Given the description of an element on the screen output the (x, y) to click on. 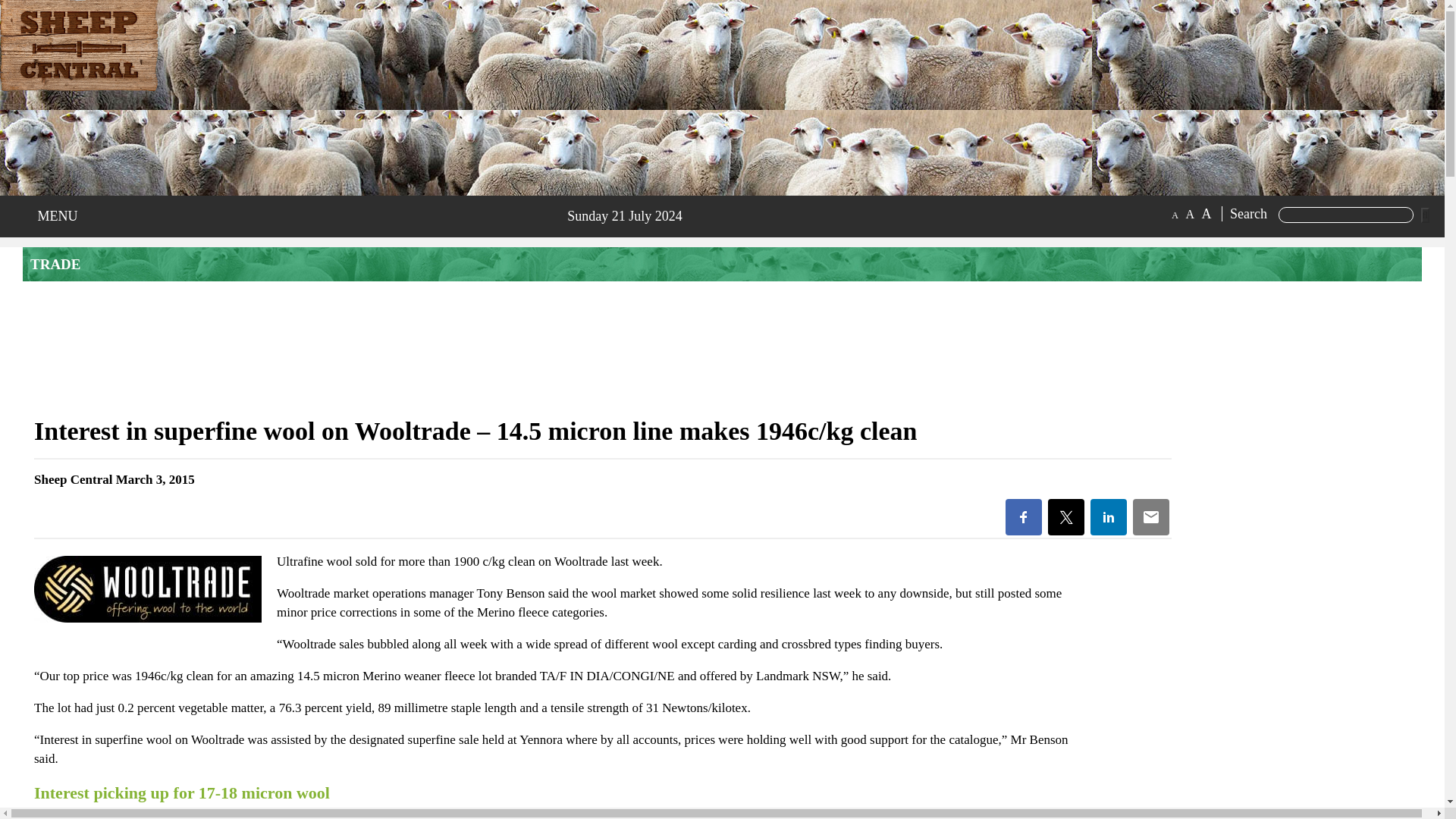
3rd party ad content (189, 146)
3rd party ad content (1296, 498)
3rd party ad content (721, 346)
3rd party ad content (1296, 805)
3rd party ad content (1296, 646)
3rd party ad content (1296, 737)
MENU (53, 216)
